Given the description of an element on the screen output the (x, y) to click on. 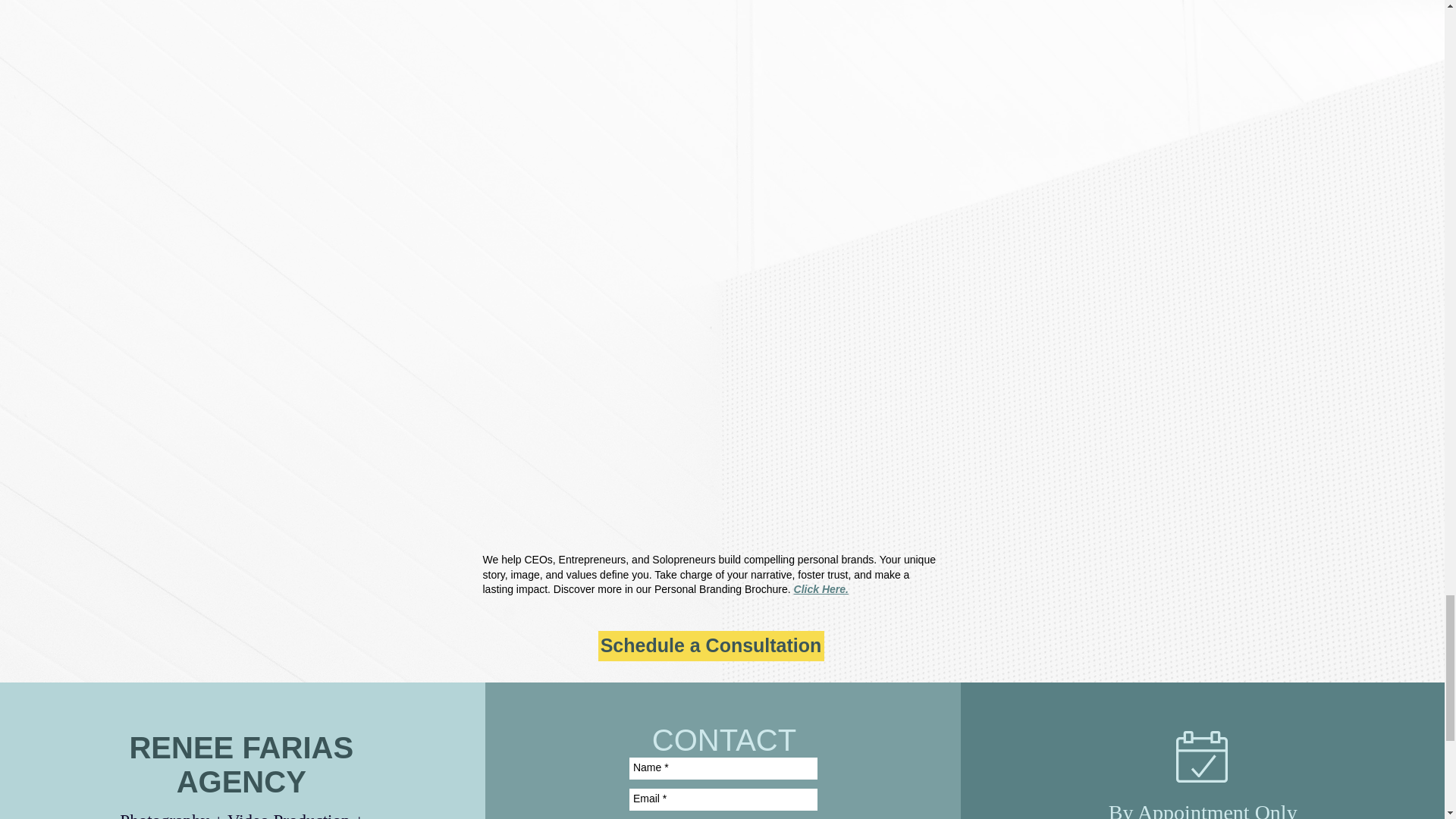
Schedule a Consultation (710, 645)
Click Here. (820, 589)
